Given the description of an element on the screen output the (x, y) to click on. 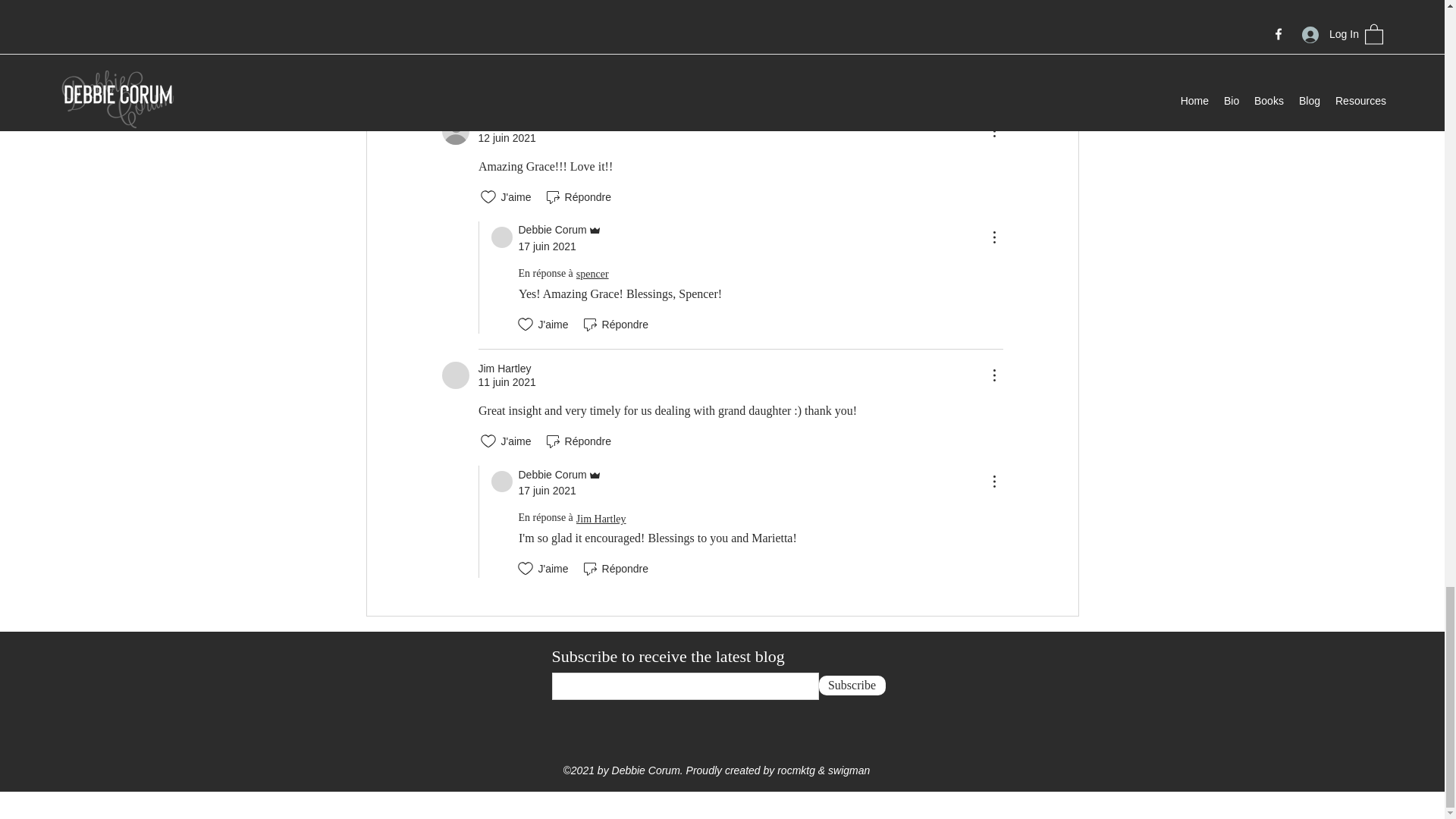
Debbie Corum (502, 481)
Debbie Corum (502, 2)
Jim Hartley (454, 375)
Debbie Corum (502, 237)
